Given the description of an element on the screen output the (x, y) to click on. 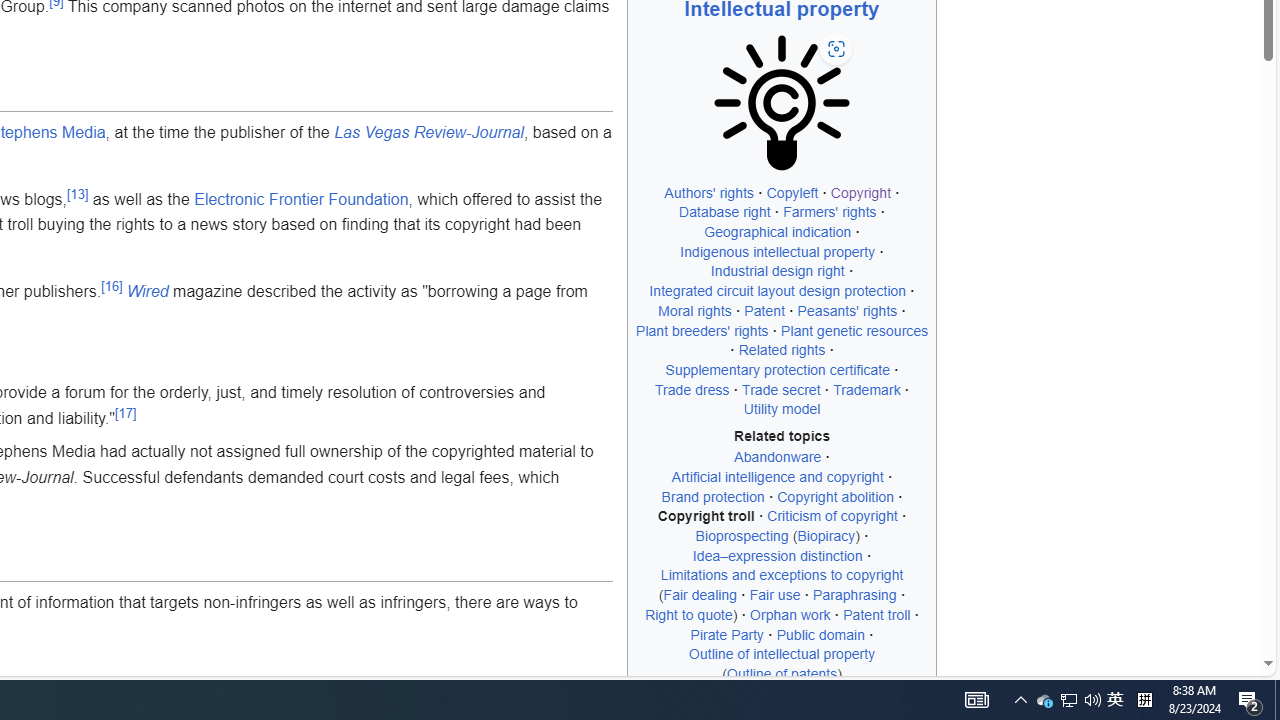
Criticism of copyright (832, 516)
Bioprospecting (741, 536)
[13] (77, 193)
Trade secret (781, 389)
Class: mw-file-element (781, 102)
Trade dress (691, 389)
Farmers' rights (829, 212)
Supplementary protection certificate (777, 369)
Plant genetic resources (854, 330)
